Given the description of an element on the screen output the (x, y) to click on. 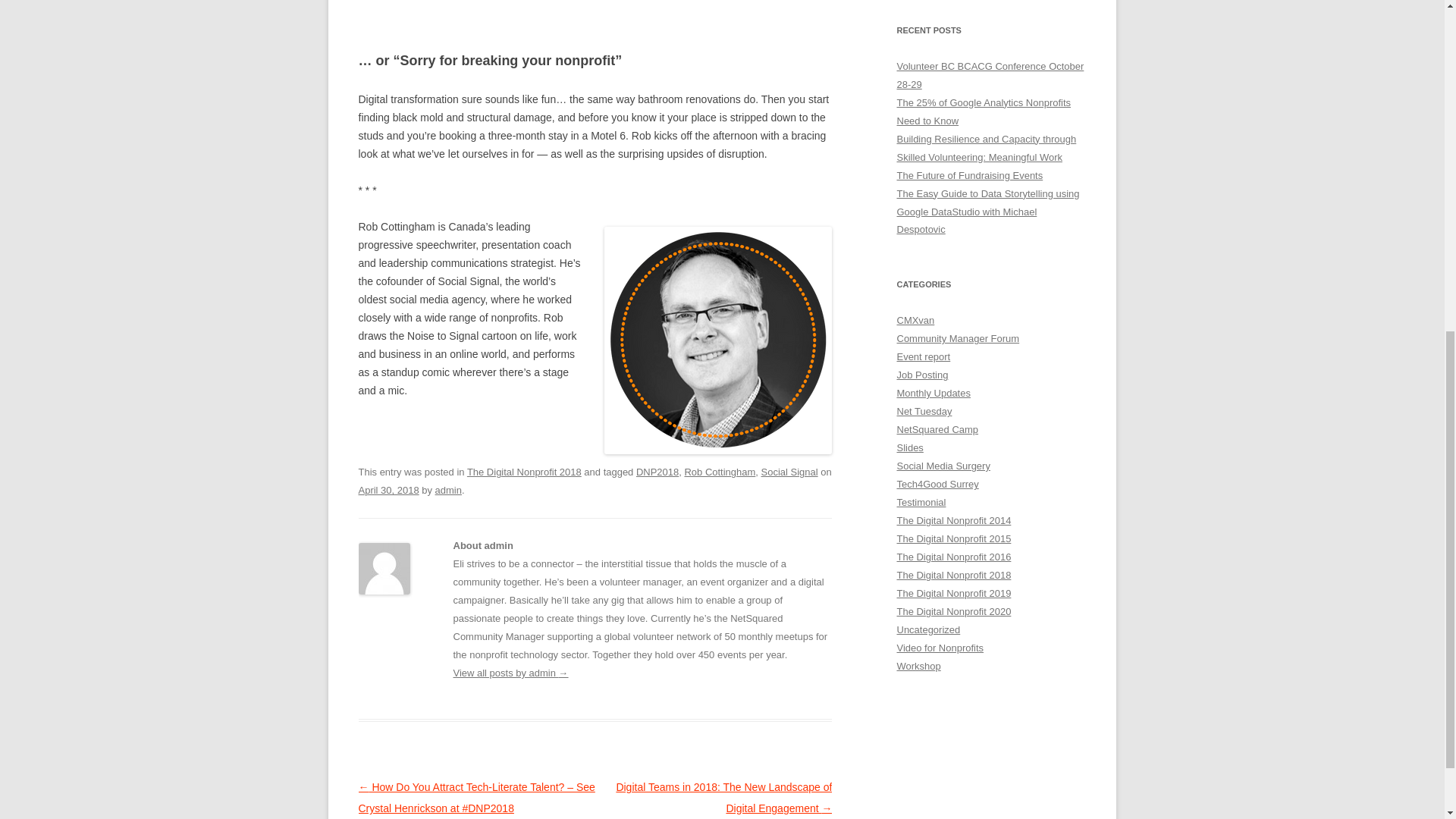
Event report (923, 356)
Social Signal (789, 471)
7:28 pm (388, 490)
NetSquared Camp (937, 429)
CMXvan (915, 319)
Rob Cottingham (719, 471)
DNP2018 (657, 471)
admin (448, 490)
Monthly Updates (932, 392)
Job Posting (921, 374)
Community Manager Forum (957, 337)
The Digital Nonprofit 2018 (523, 471)
View all posts by admin (448, 490)
